Given the description of an element on the screen output the (x, y) to click on. 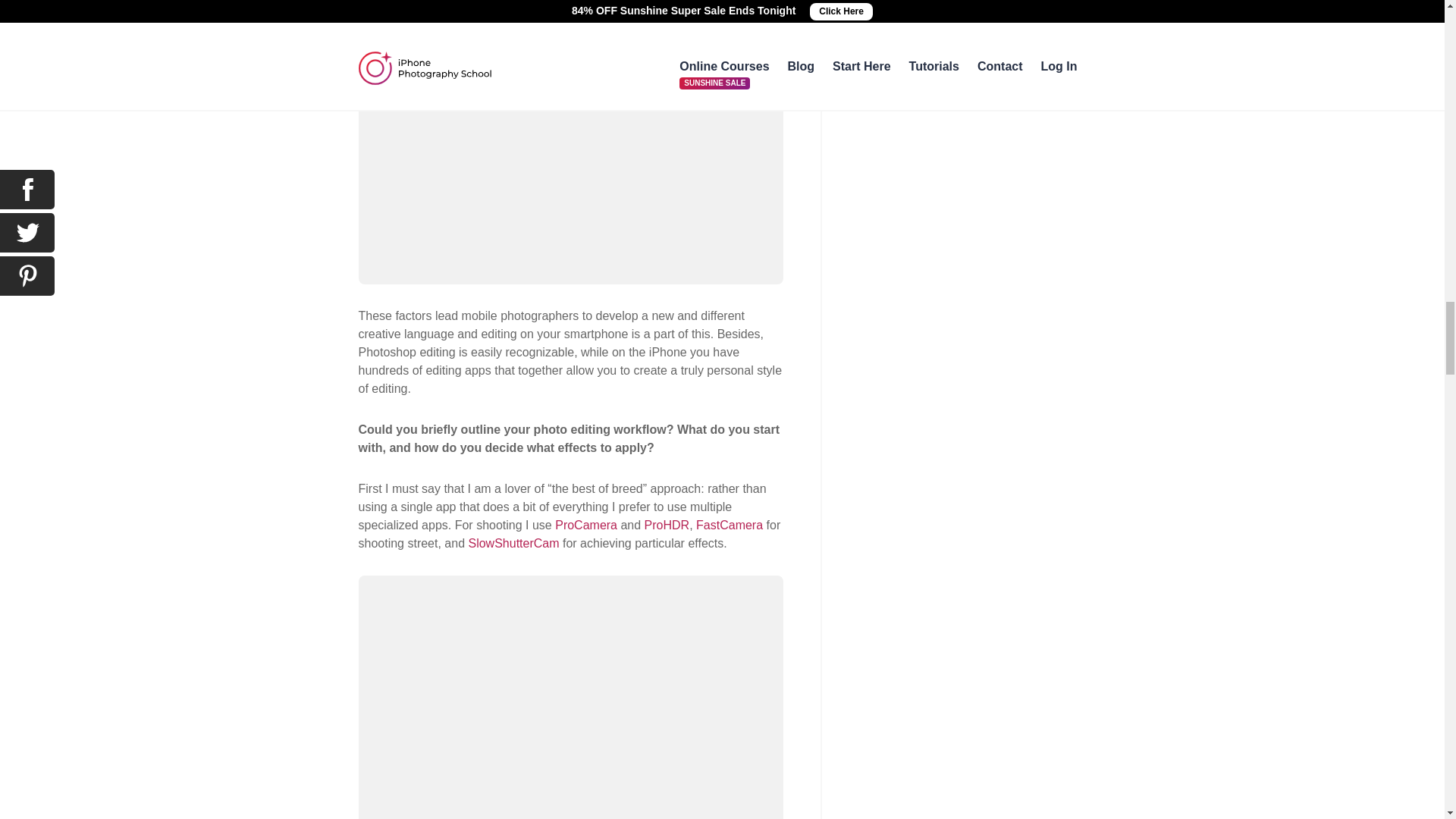
ProHDR (667, 524)
ProCamera (585, 524)
FastCamera (728, 524)
SlowShutterCam (513, 543)
